Given the description of an element on the screen output the (x, y) to click on. 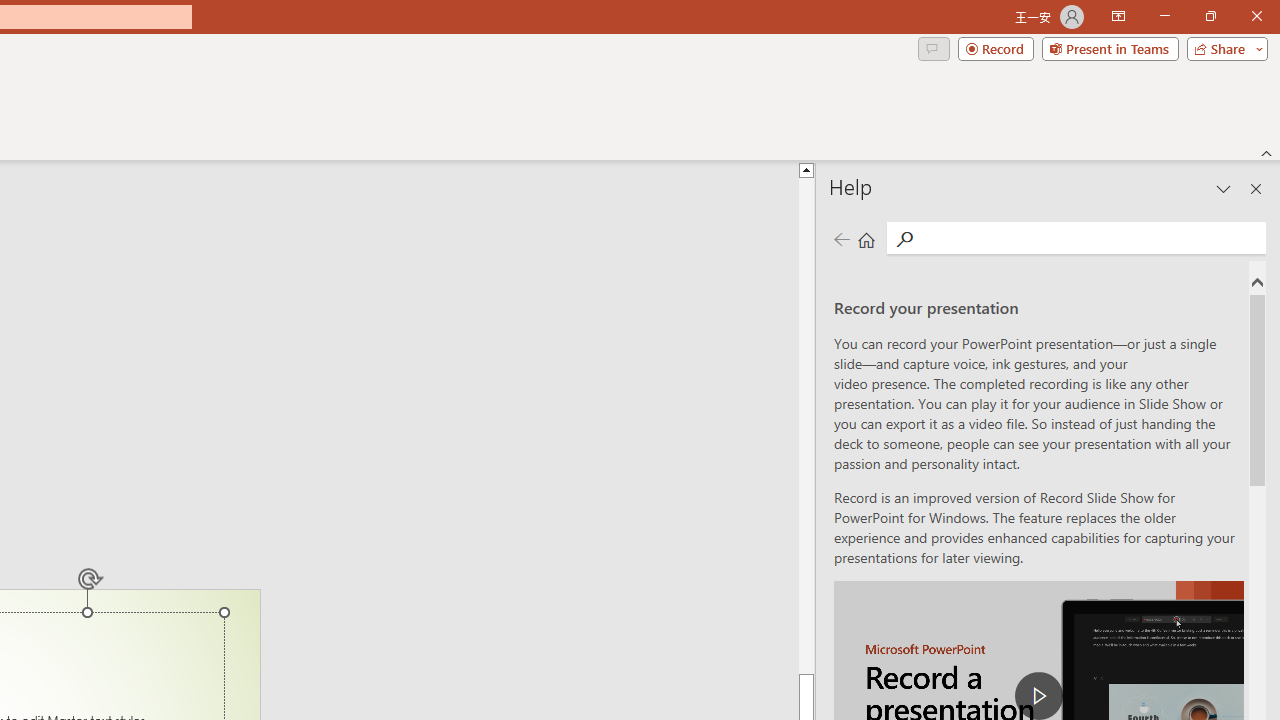
Record (995, 48)
Share (1223, 48)
Page up (806, 425)
Search (904, 238)
Previous page (841, 238)
Ribbon Display Options (1118, 16)
Line up (806, 169)
Restore Down (1210, 16)
Comments (933, 48)
Search (1089, 237)
Task Pane Options (1224, 188)
Minimize (1164, 16)
Home (866, 238)
Collapse the Ribbon (1267, 152)
